Given the description of an element on the screen output the (x, y) to click on. 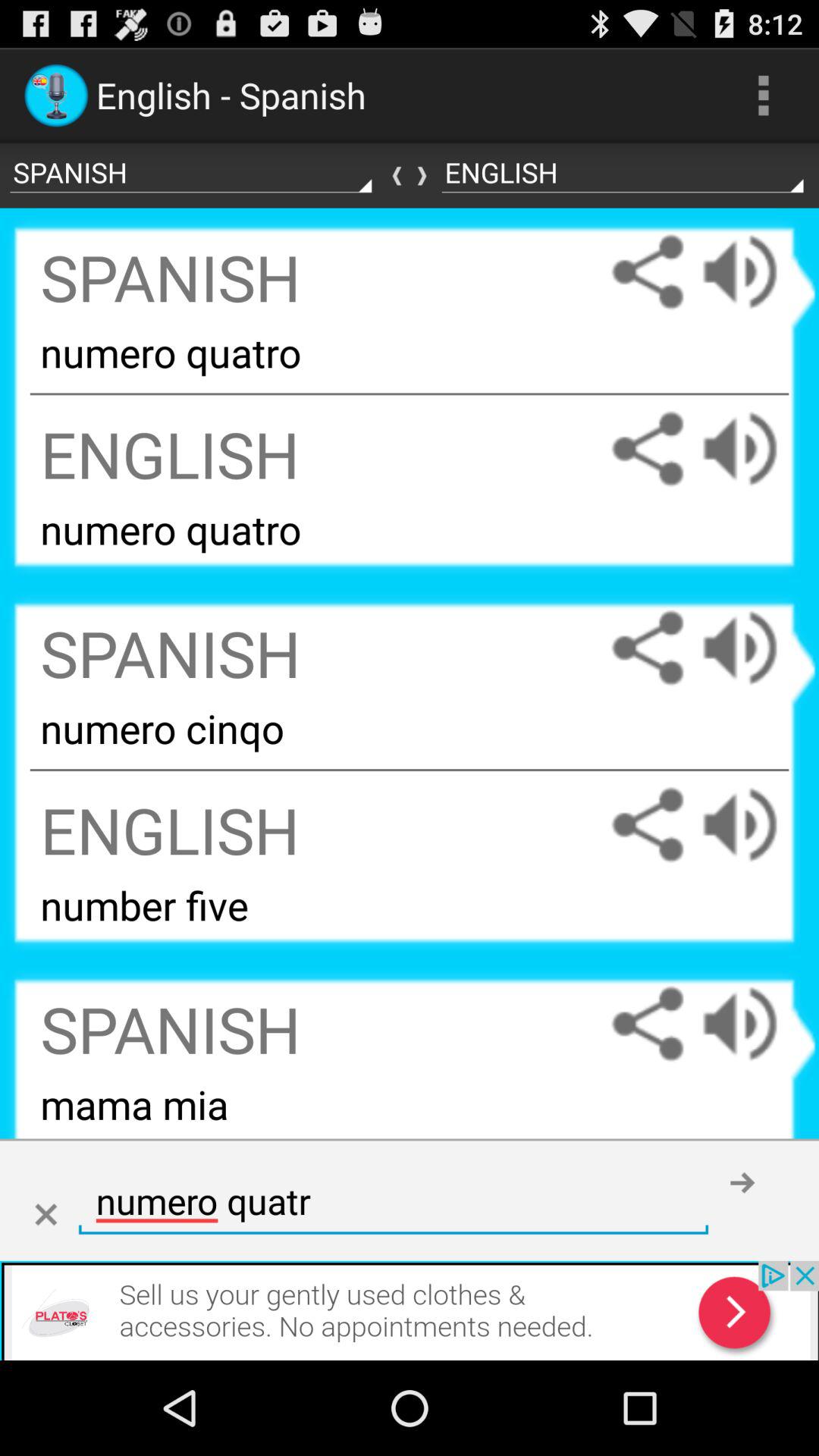
hear the word (754, 1023)
